Given the description of an element on the screen output the (x, y) to click on. 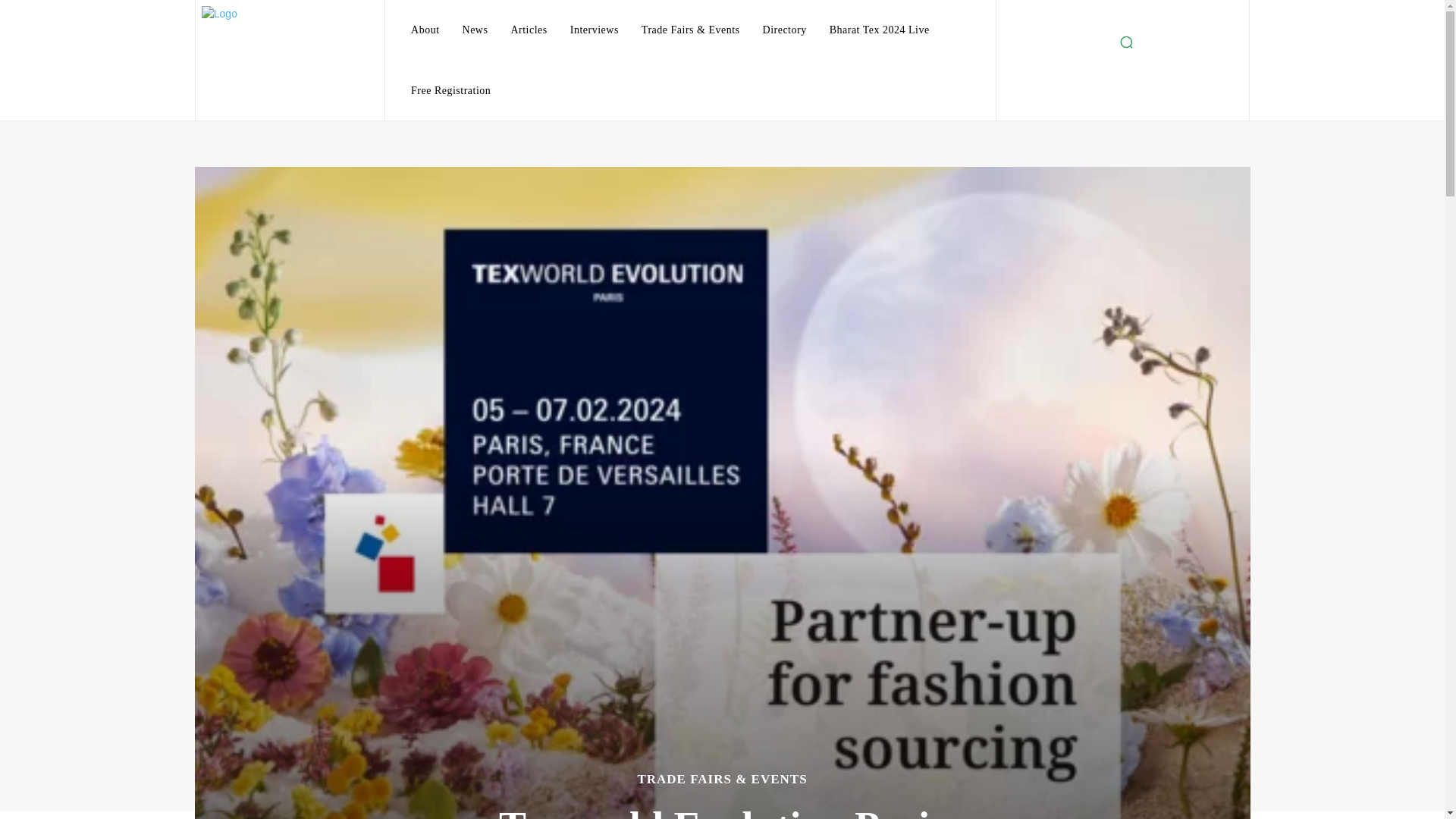
Free Registration (450, 90)
Interviews (594, 30)
Directory (784, 30)
Bharat Tex 2024 Live (879, 30)
